Given the description of an element on the screen output the (x, y) to click on. 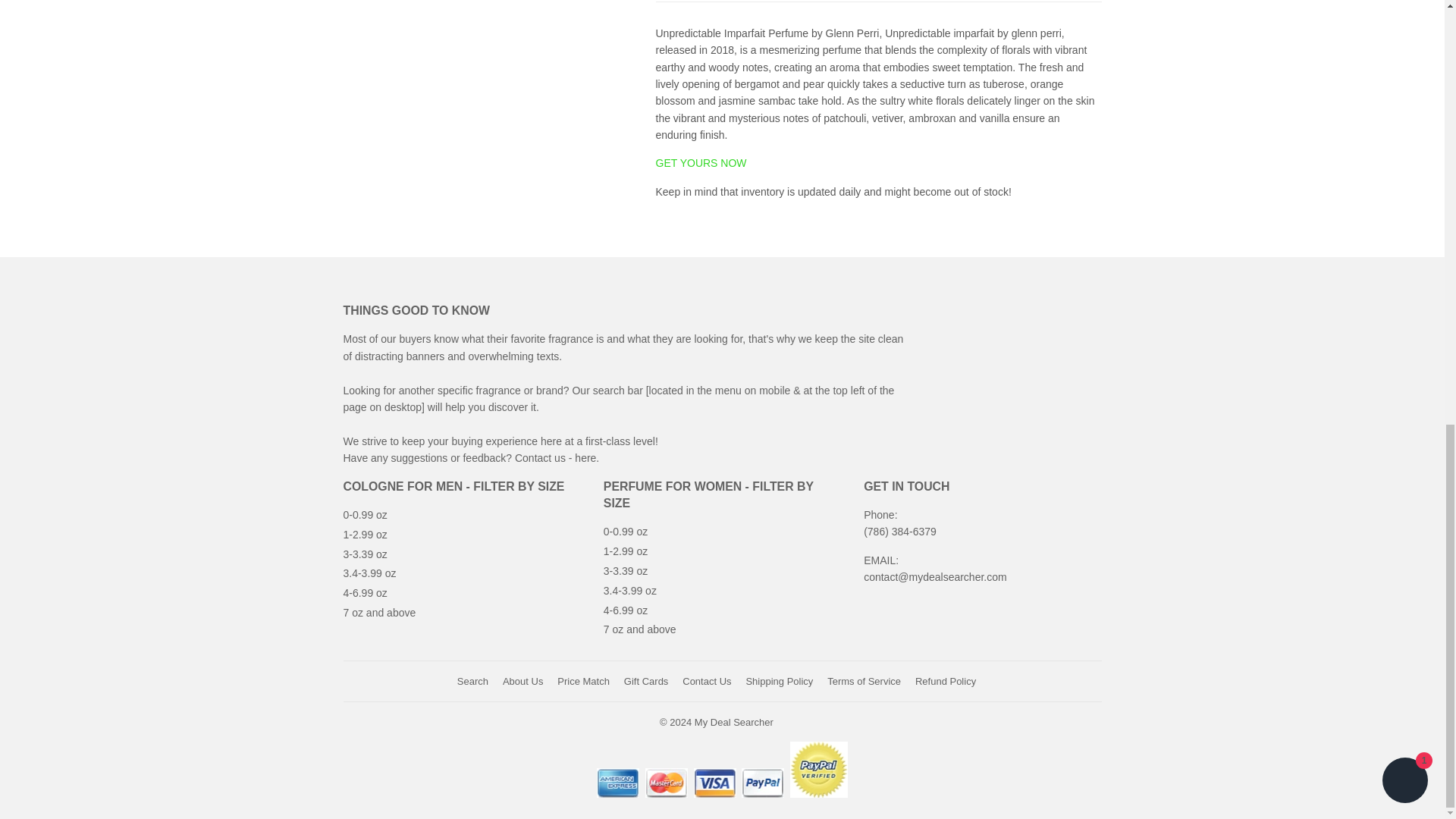
Contact (586, 458)
